Given the description of an element on the screen output the (x, y) to click on. 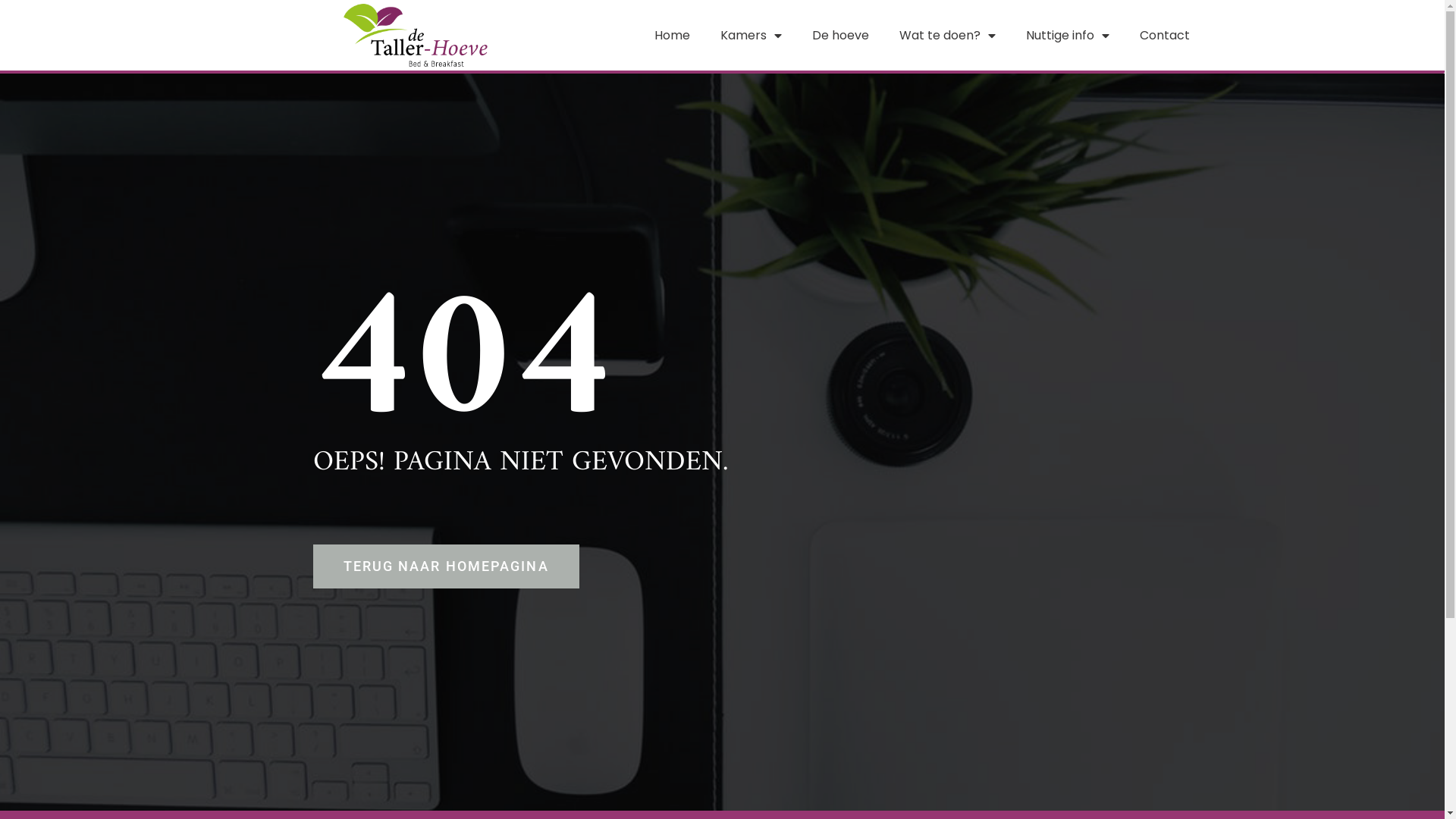
Kamers Element type: text (751, 35)
TERUG NAAR HOMEPAGINA Element type: text (445, 566)
Nuttige info Element type: text (1067, 35)
Contact Element type: text (1164, 35)
Home Element type: text (672, 35)
De hoeve Element type: text (840, 35)
Wat te doen? Element type: text (947, 35)
